Given the description of an element on the screen output the (x, y) to click on. 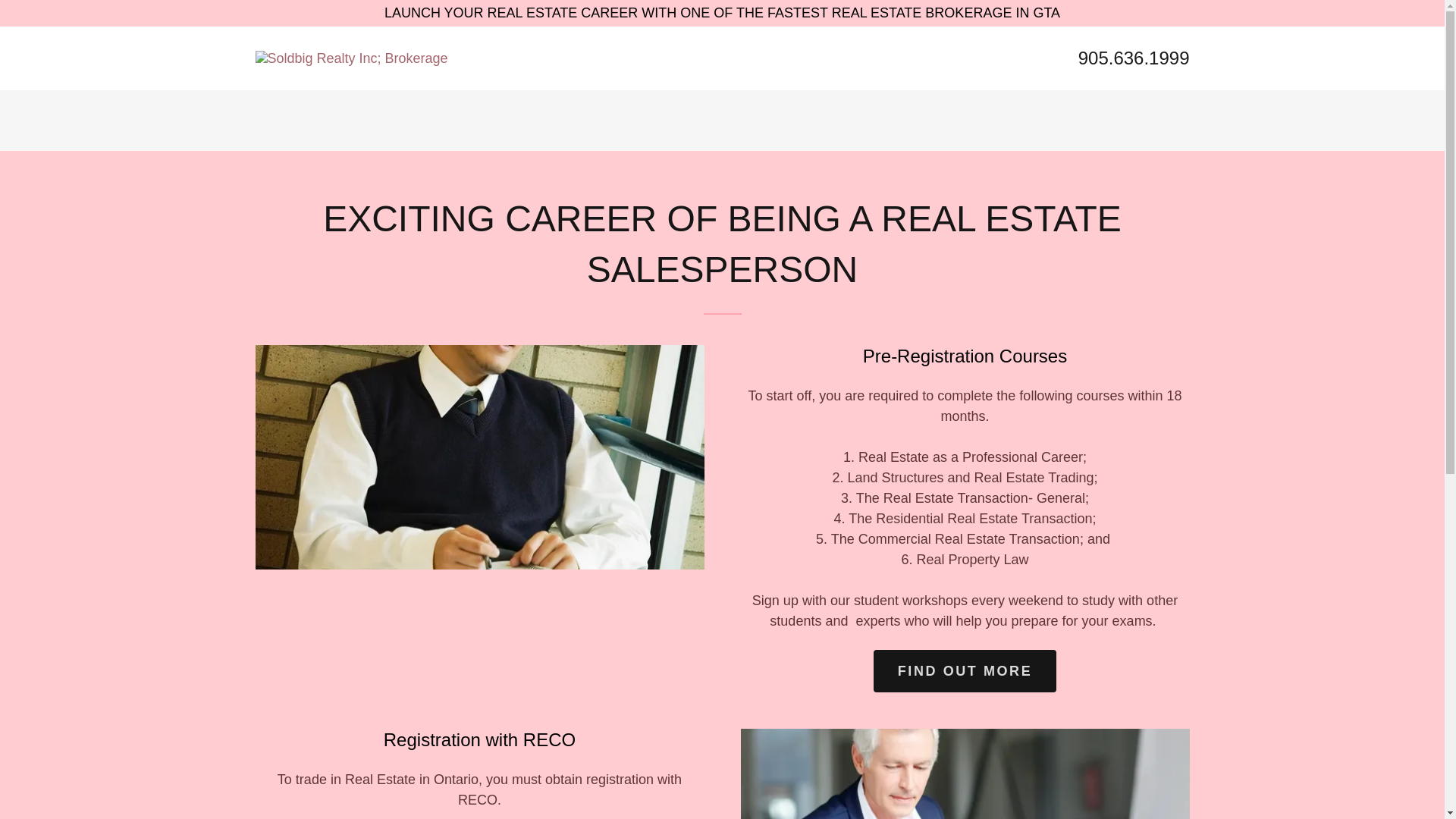
Soldbig Realty Inc; Brokerage (350, 57)
905.636.1999 (1133, 57)
